Given the description of an element on the screen output the (x, y) to click on. 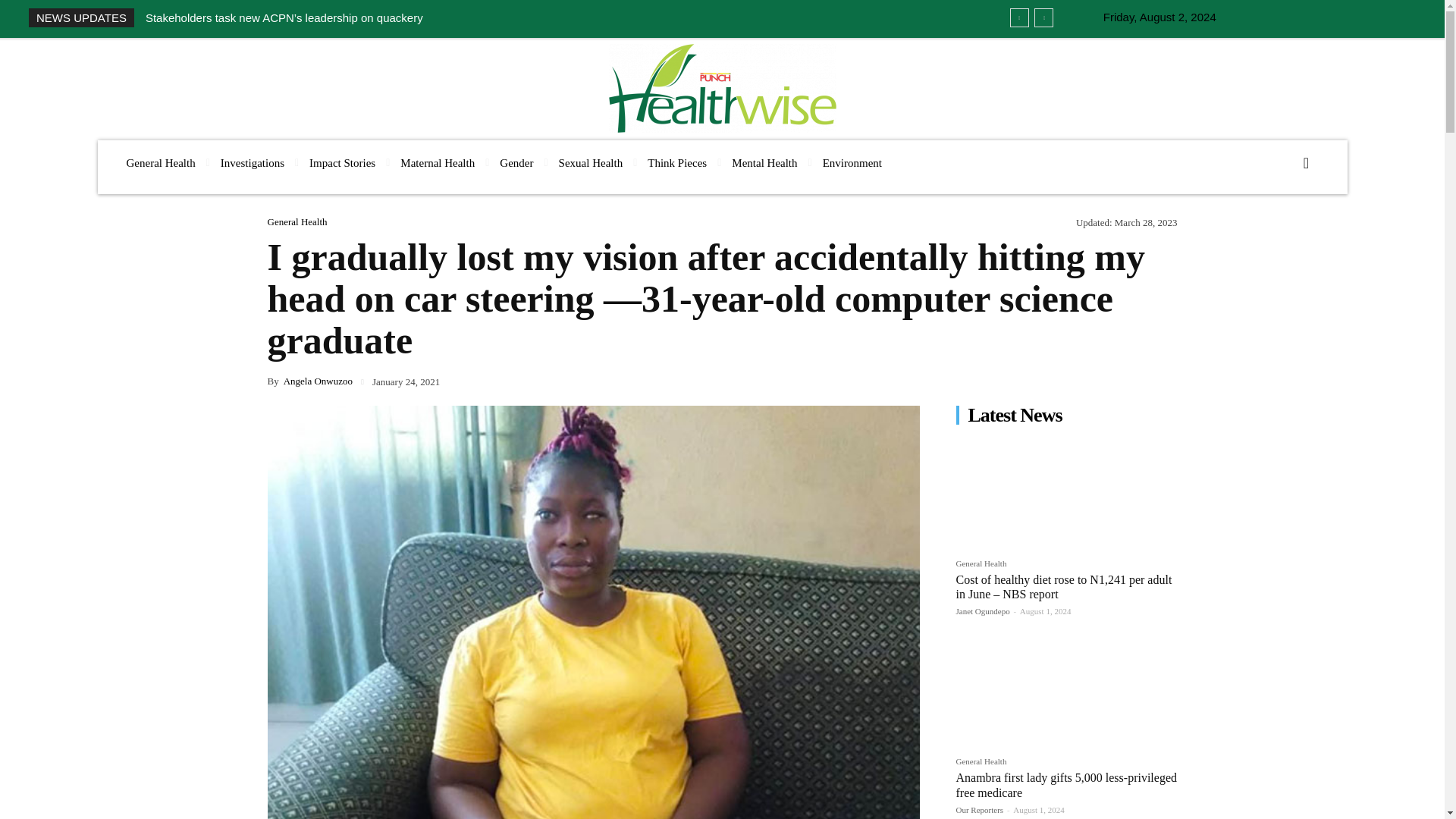
General Health (160, 163)
Investigations (252, 163)
